Given the description of an element on the screen output the (x, y) to click on. 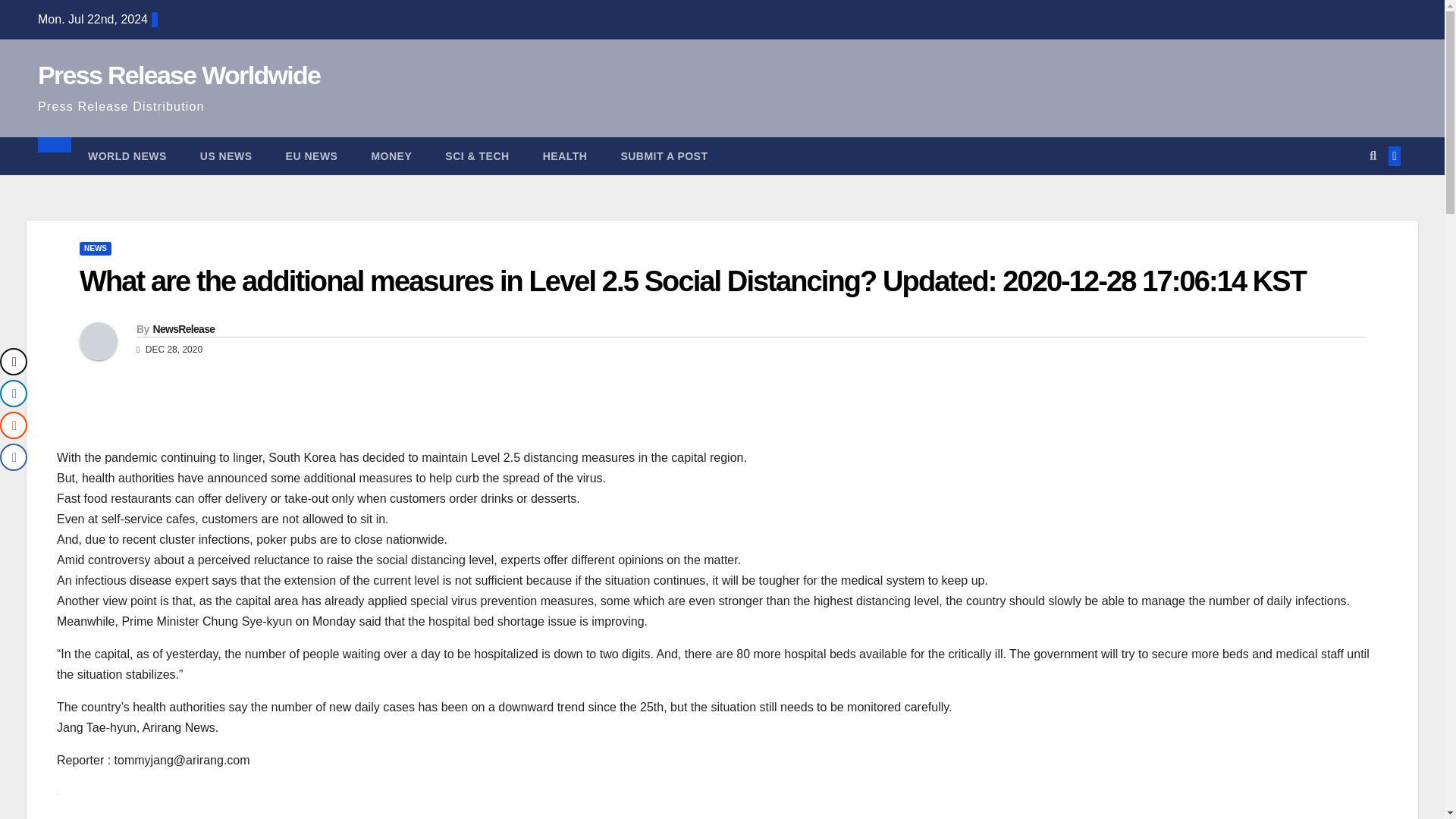
WORLD NEWS (127, 156)
EU News (312, 156)
MONEY (390, 156)
SUBMIT A POST (663, 156)
Submit a Post (663, 156)
HEALTH (564, 156)
EU NEWS (312, 156)
NEWS (96, 248)
NewsRelease (183, 328)
Press Release Worldwide (178, 74)
Health (564, 156)
Money (390, 156)
